Given the description of an element on the screen output the (x, y) to click on. 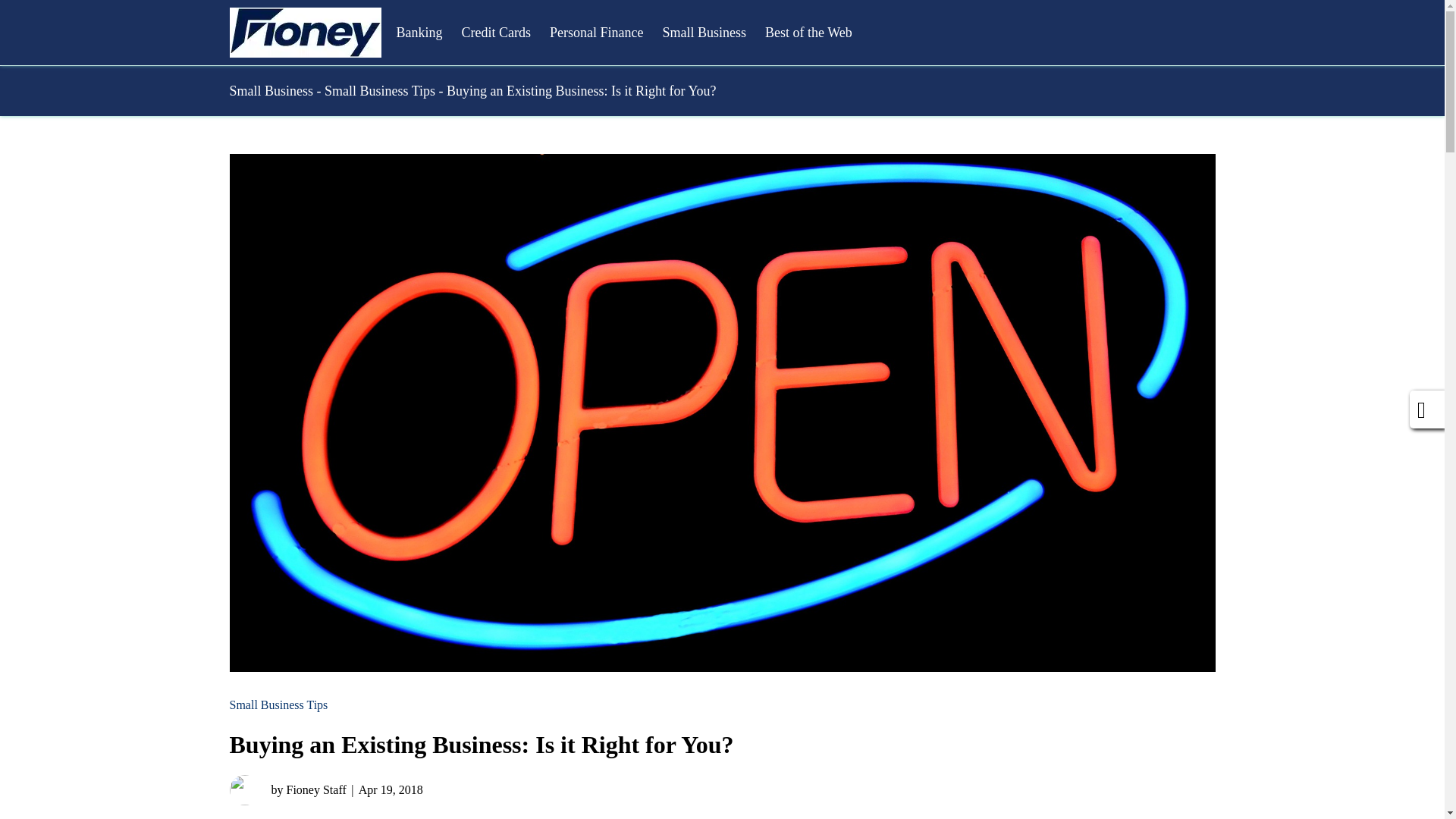
Small Business Tips (277, 703)
Banking (419, 32)
Navigate to the home page (304, 32)
Small Business (703, 32)
Personal Finance (596, 32)
Best of the Web (808, 32)
Credit Cards (496, 32)
Small Business Tips (379, 90)
Small Business (270, 90)
Posts by Fioney Staff (287, 789)
